Given the description of an element on the screen output the (x, y) to click on. 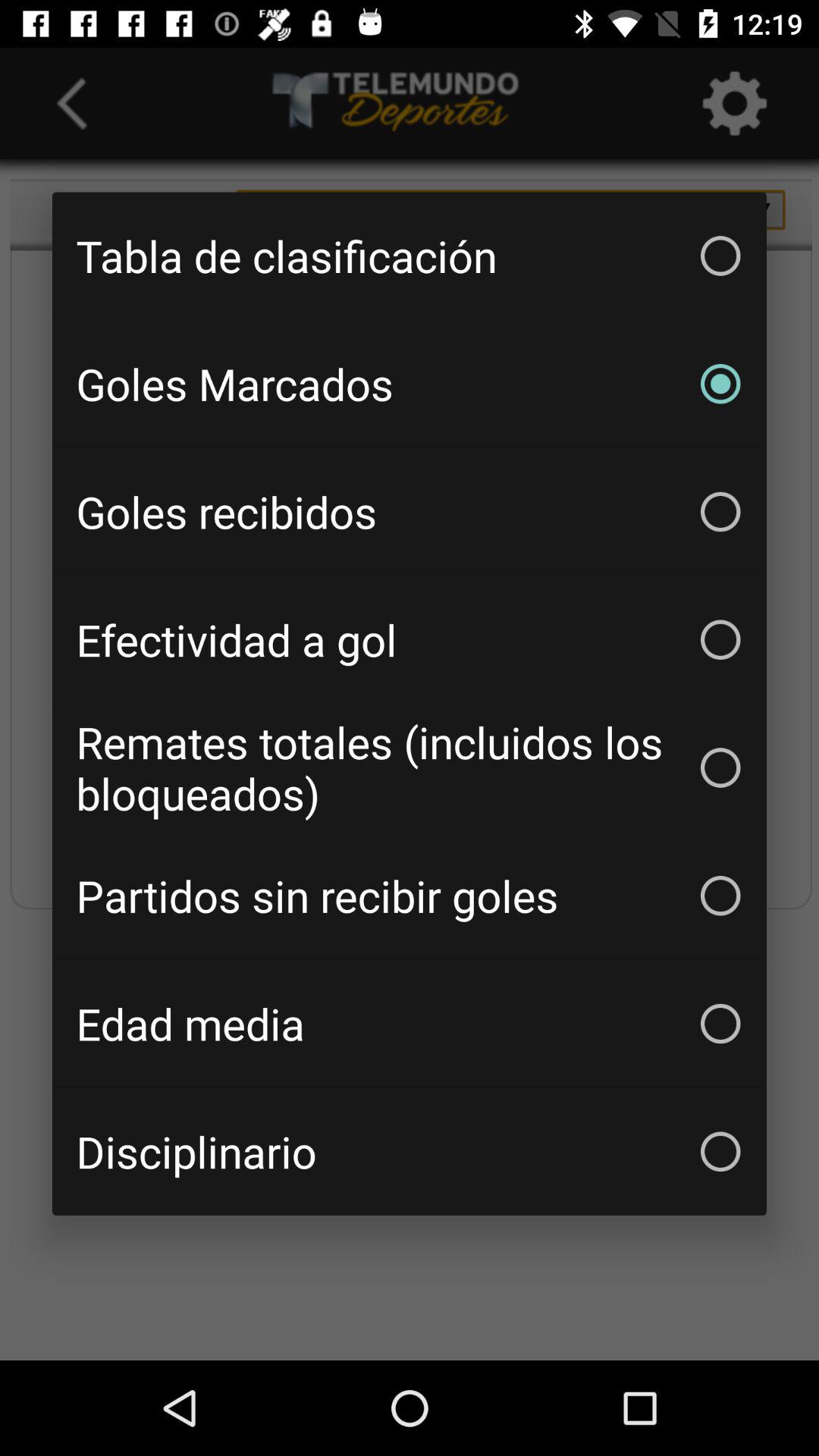
select partidos sin recibir (409, 895)
